Given the description of an element on the screen output the (x, y) to click on. 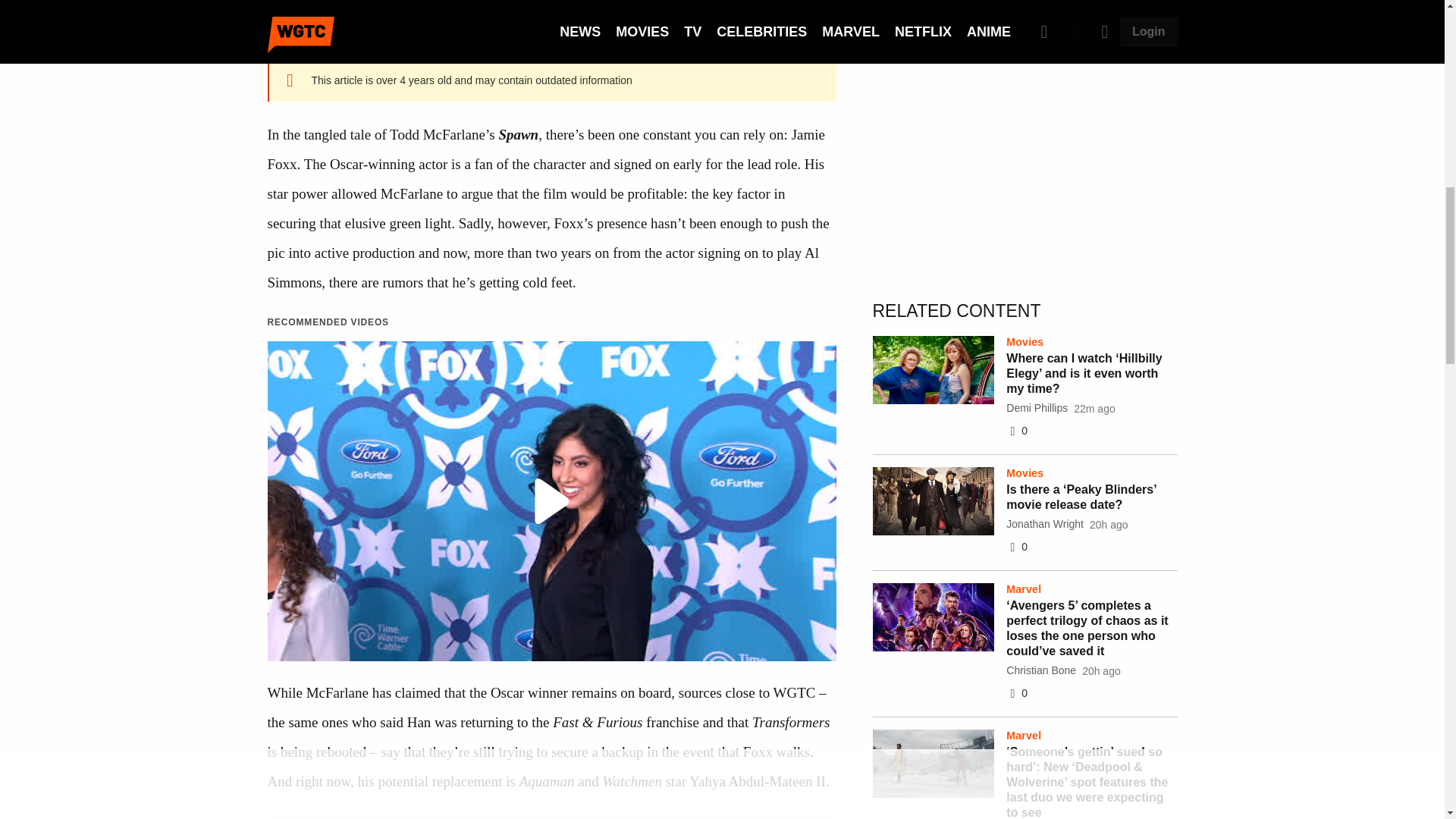
3rd party ad content (1024, 153)
